Given the description of an element on the screen output the (x, y) to click on. 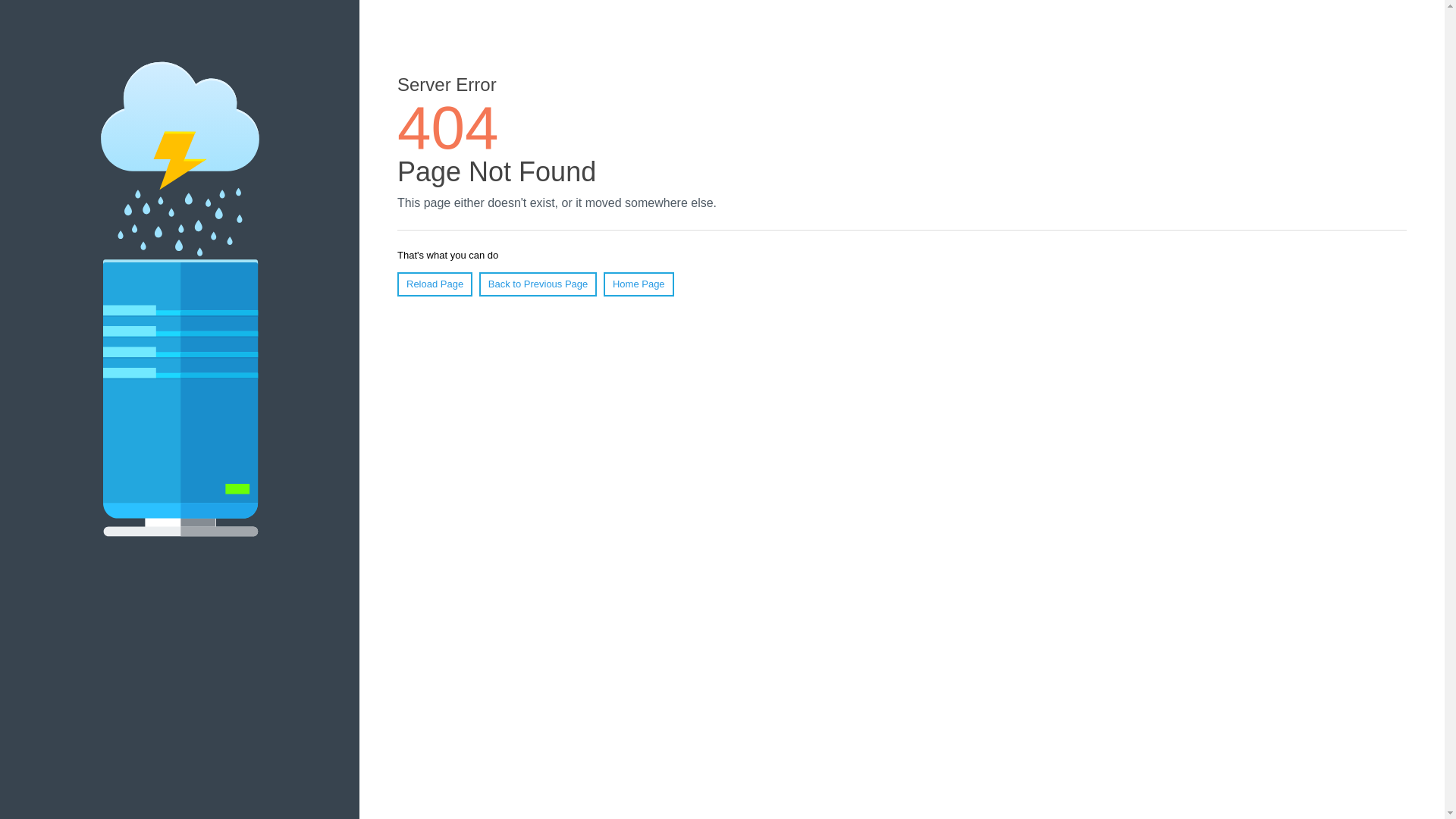
Reload Page Element type: text (434, 284)
Home Page Element type: text (638, 284)
Back to Previous Page Element type: text (538, 284)
